Given the description of an element on the screen output the (x, y) to click on. 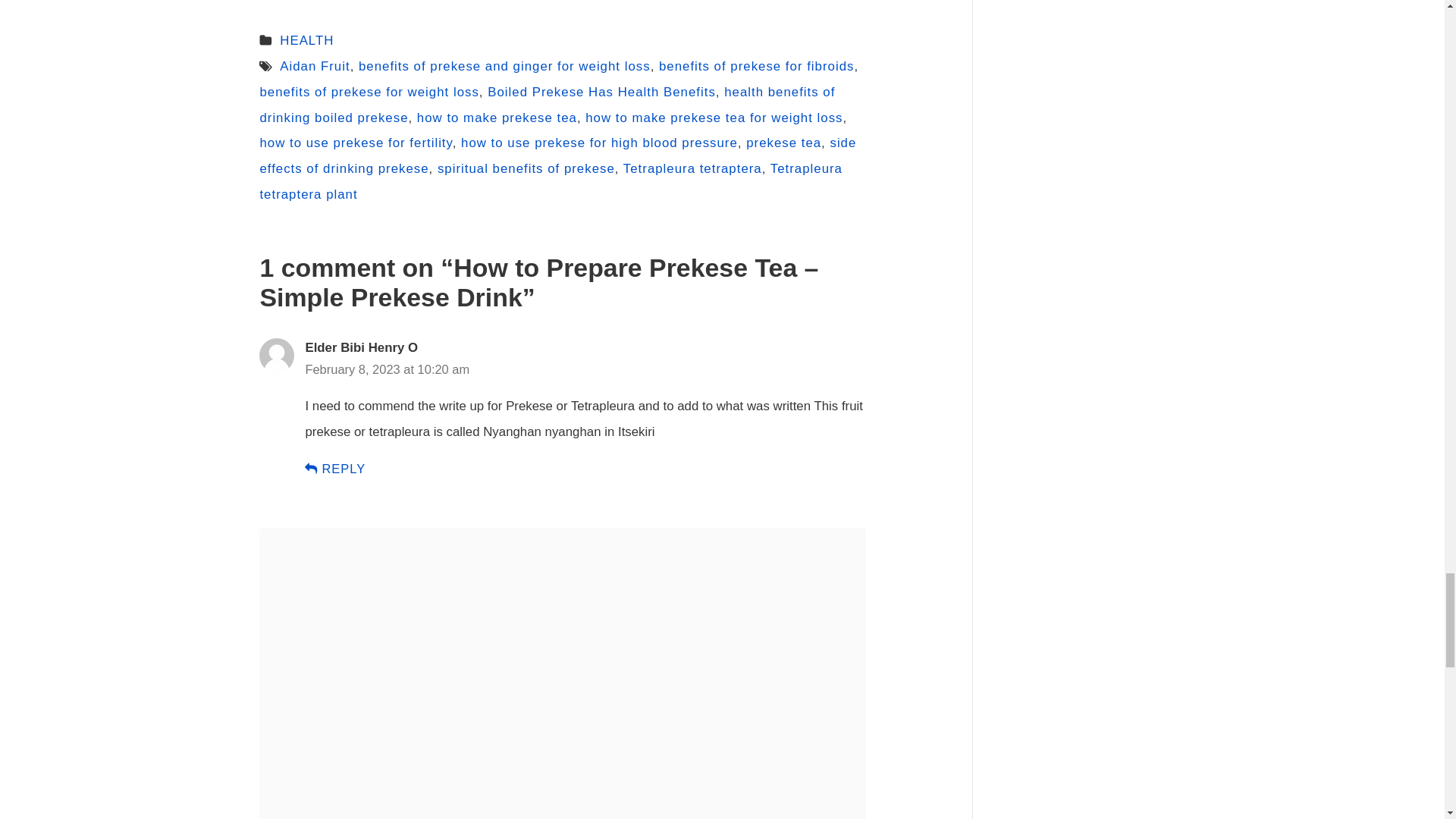
how to make prekese tea (496, 117)
Aidan Fruit (314, 65)
spiritual benefits of prekese (526, 168)
benefits of prekese and ginger for weight loss (504, 65)
Tetrapleura tetraptera plant (551, 181)
benefits of prekese for weight loss (369, 92)
how to use prekese for high blood pressure (599, 142)
how to make prekese tea for weight loss (714, 117)
benefits of prekese for fibroids (756, 65)
REPLY (334, 468)
February 8, 2023 at 10:20 am (386, 368)
prekese tea (783, 142)
Elder Bibi Henry O (360, 347)
HEALTH (306, 40)
side effects of drinking prekese (557, 155)
